Given the description of an element on the screen output the (x, y) to click on. 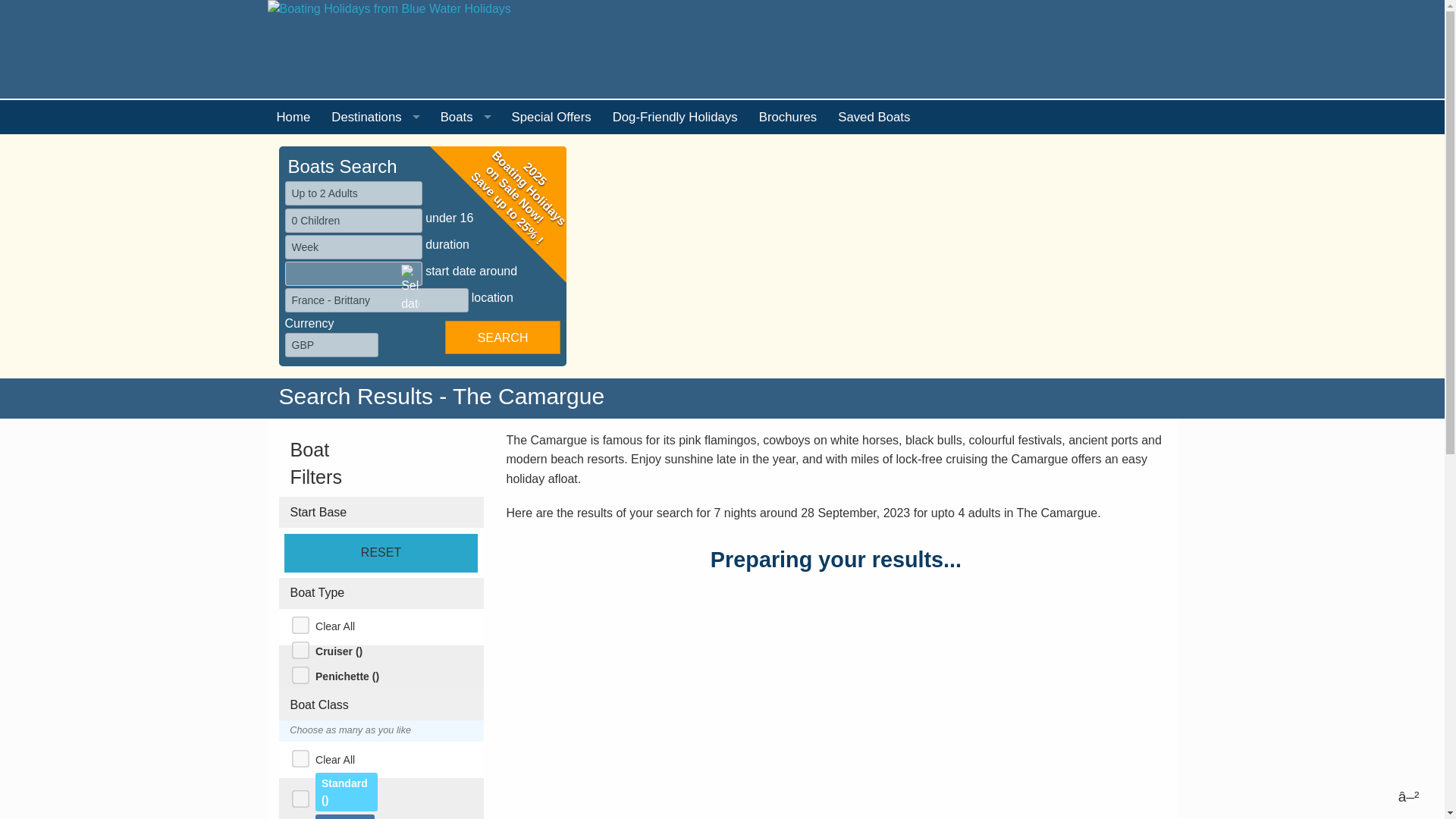
on (296, 621)
France (375, 185)
Hungary (375, 500)
on (296, 671)
Home (293, 116)
on (296, 795)
Boats for 2 to 4 people (466, 185)
on (296, 646)
Boats for 4 to 6 people (466, 221)
Choosing your Boat (466, 151)
